Given the description of an element on the screen output the (x, y) to click on. 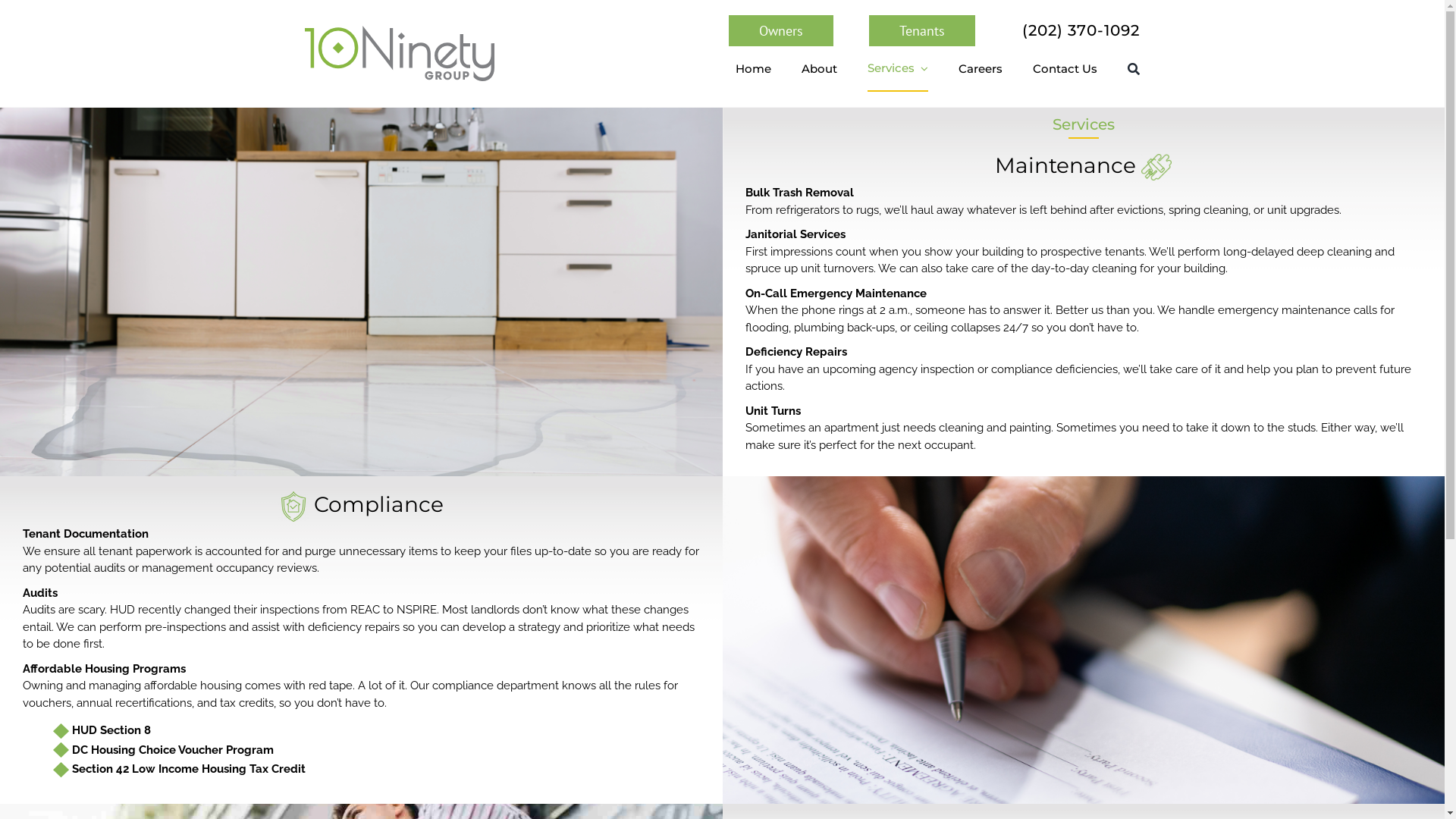
(202) 370-1092 Element type: text (1080, 30)
About Element type: text (819, 68)
Careers Element type: text (980, 68)
Services Element type: text (897, 68)
Home Element type: text (753, 68)
Owners Element type: text (780, 30)
Tenants Element type: text (922, 30)
Contact Us Element type: text (1064, 68)
Search Element type: hover (1133, 68)
